Given the description of an element on the screen output the (x, y) to click on. 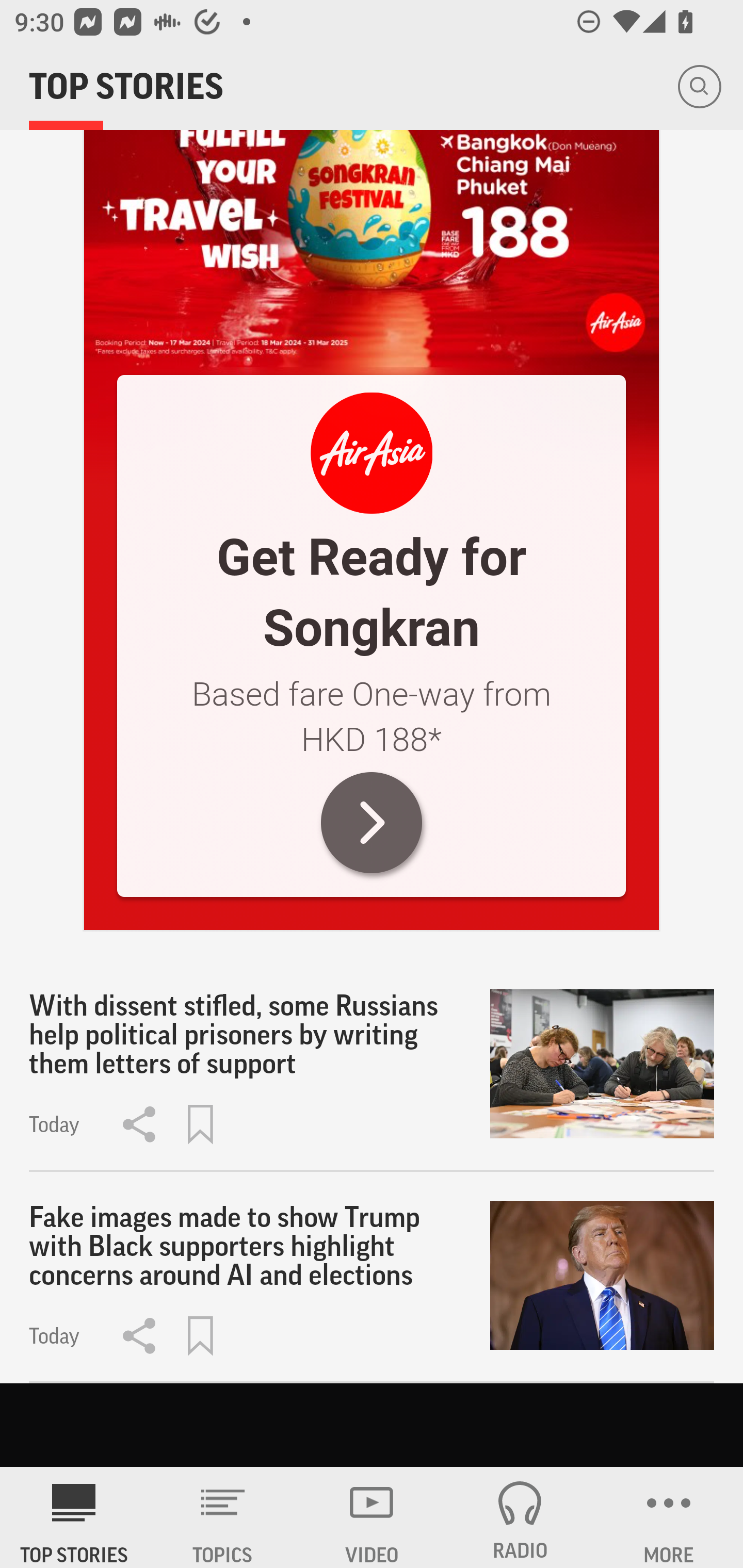
%3Ffrom%3DHKG (371, 220)
%3Ffrom%3DHKG (371, 453)
Get Ready for Songkran Get Ready for Songkran (372, 592)
%3Ffrom%3DHKG (371, 821)
AP News TOP STORIES (74, 1517)
TOPICS (222, 1517)
VIDEO (371, 1517)
RADIO (519, 1517)
MORE (668, 1517)
